Given the description of an element on the screen output the (x, y) to click on. 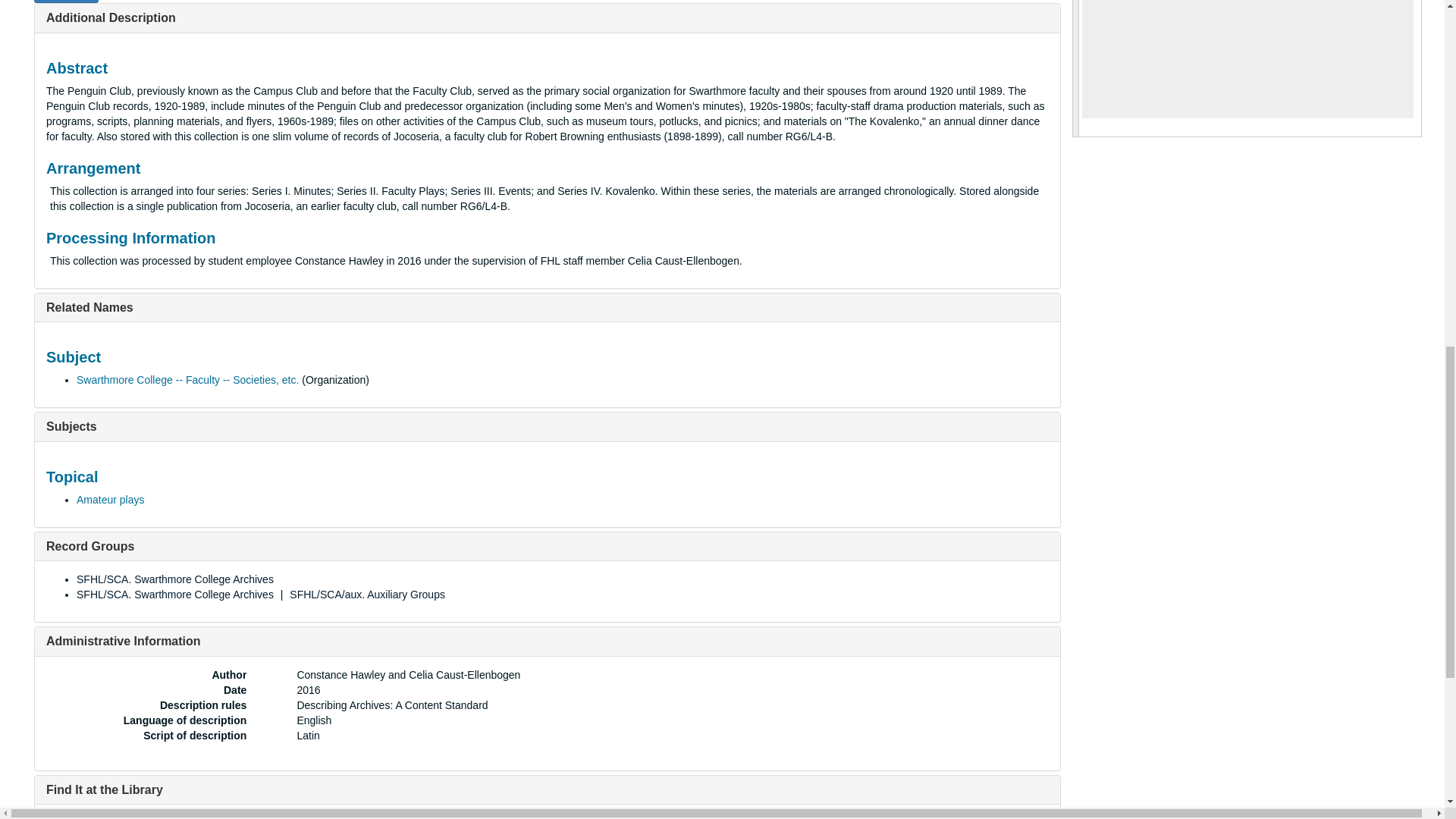
Swarthmore College -- Faculty -- Societies, etc. (187, 379)
Find It at the Library (104, 789)
Administrative Information (123, 640)
Collapse All (66, 1)
Amateur plays (110, 499)
Record Groups (89, 545)
Subjects (71, 426)
Related Names (89, 307)
Additional Description (111, 17)
